Given the description of an element on the screen output the (x, y) to click on. 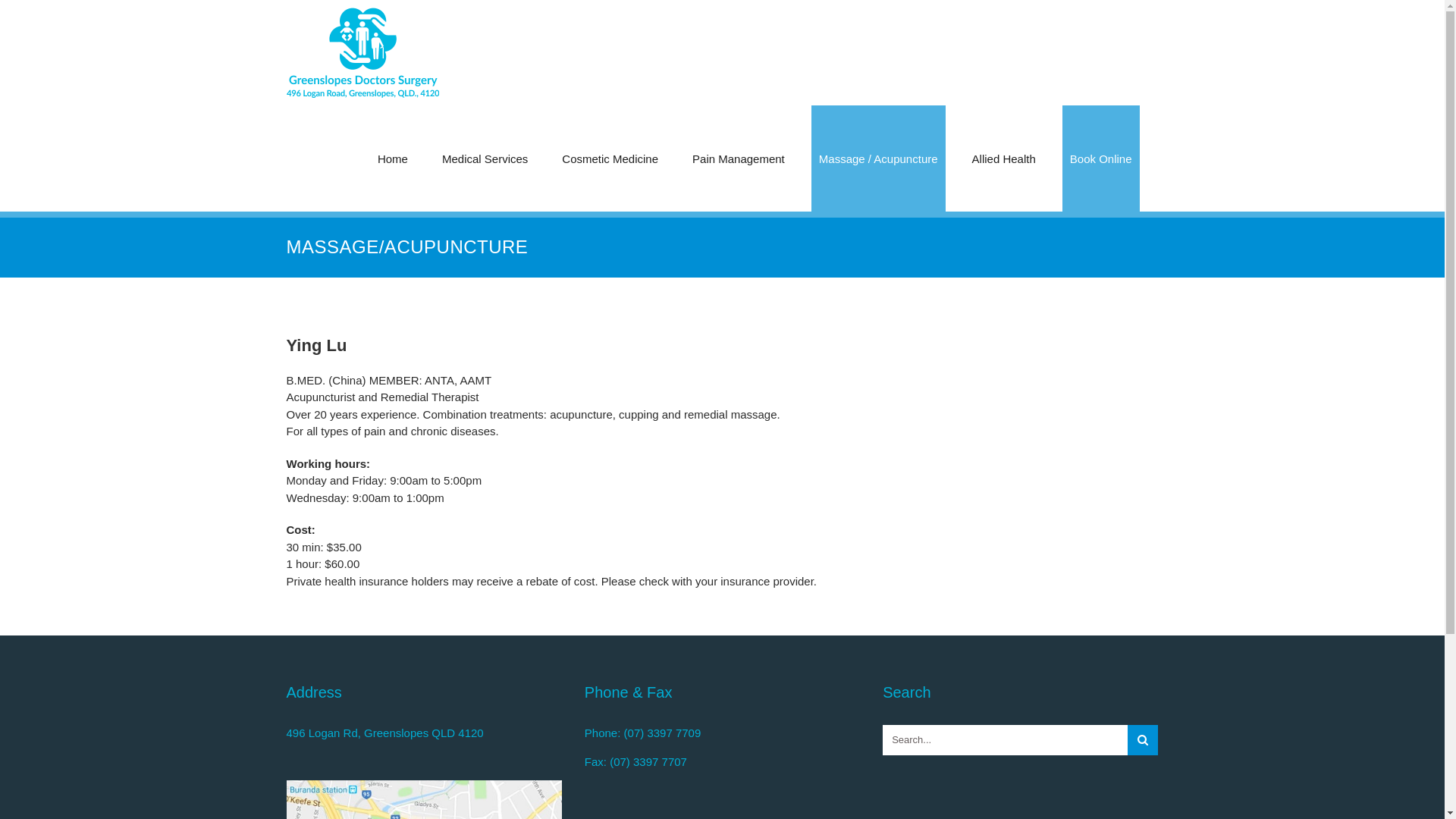
Cosmetic Medicine Element type: text (609, 158)
Massage / Acupuncture Element type: text (878, 158)
Medical Services Element type: text (484, 158)
Pain Management Element type: text (738, 158)
Book Online Element type: text (1100, 158)
(07) 3397 7709 Element type: text (662, 732)
Home Element type: text (392, 158)
Allied Health Element type: text (1003, 158)
